Given the description of an element on the screen output the (x, y) to click on. 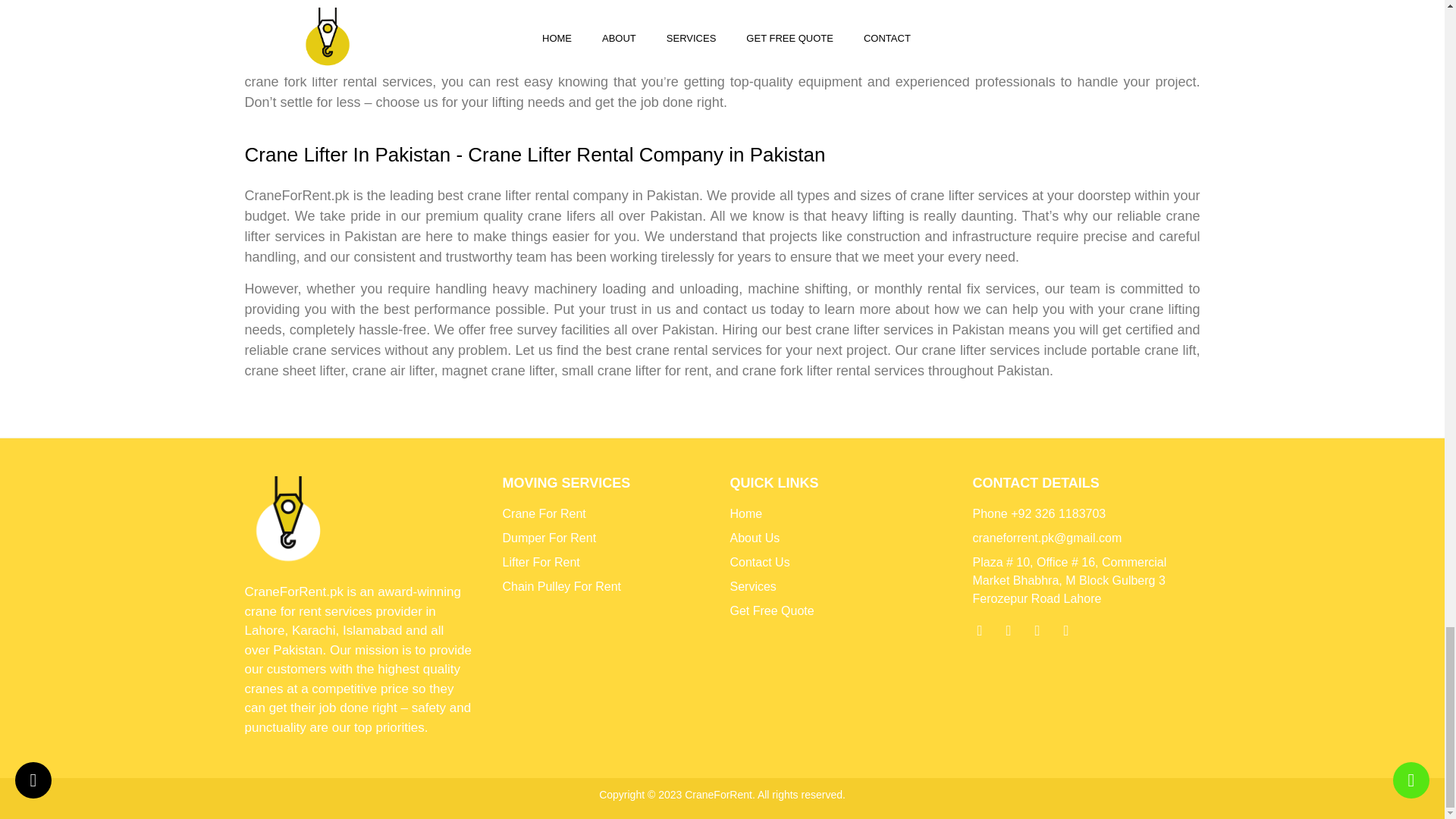
Services (842, 587)
Dumper For Rent (608, 538)
Contact Us (842, 562)
About Us (842, 538)
Lifter For Rent (608, 562)
Home (842, 514)
Chain Pulley For Rent (608, 587)
